Given the description of an element on the screen output the (x, y) to click on. 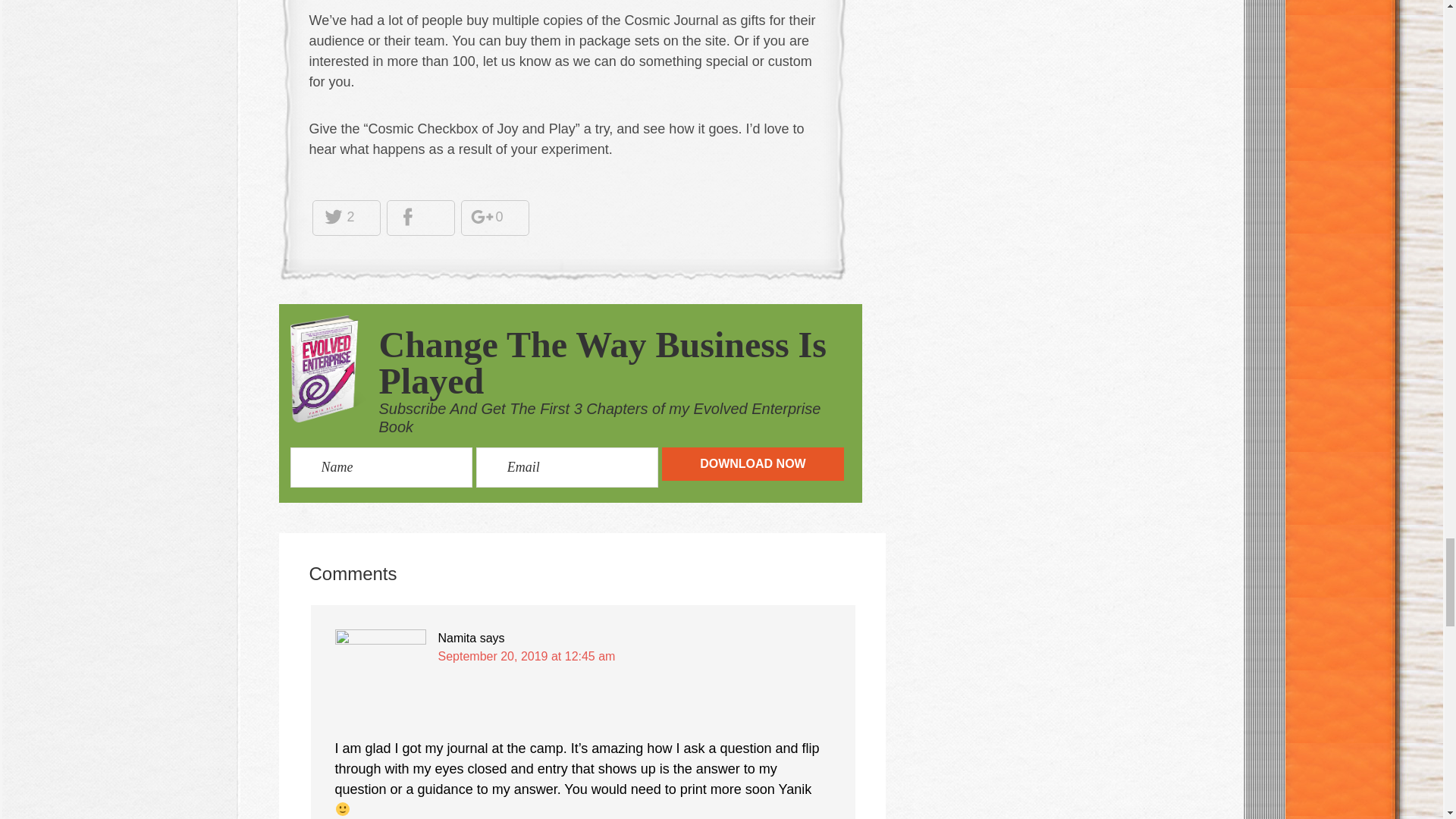
2 (337, 217)
Download Now (753, 463)
Download Now (753, 463)
September 20, 2019 at 12:45 am (526, 656)
0 (486, 217)
